Given the description of an element on the screen output the (x, y) to click on. 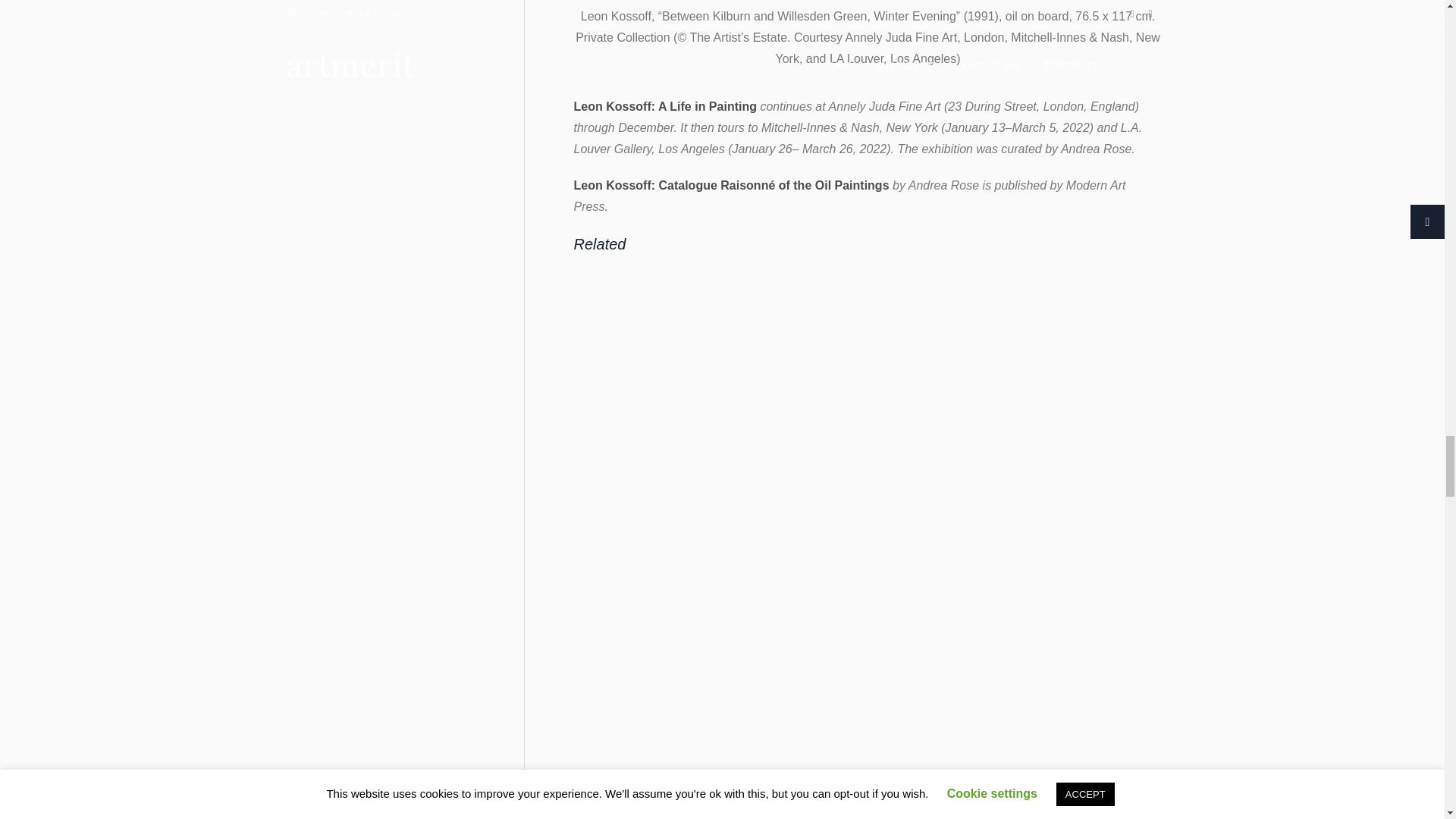
Leon Kossoff: A Life in Painting (664, 106)
